Given the description of an element on the screen output the (x, y) to click on. 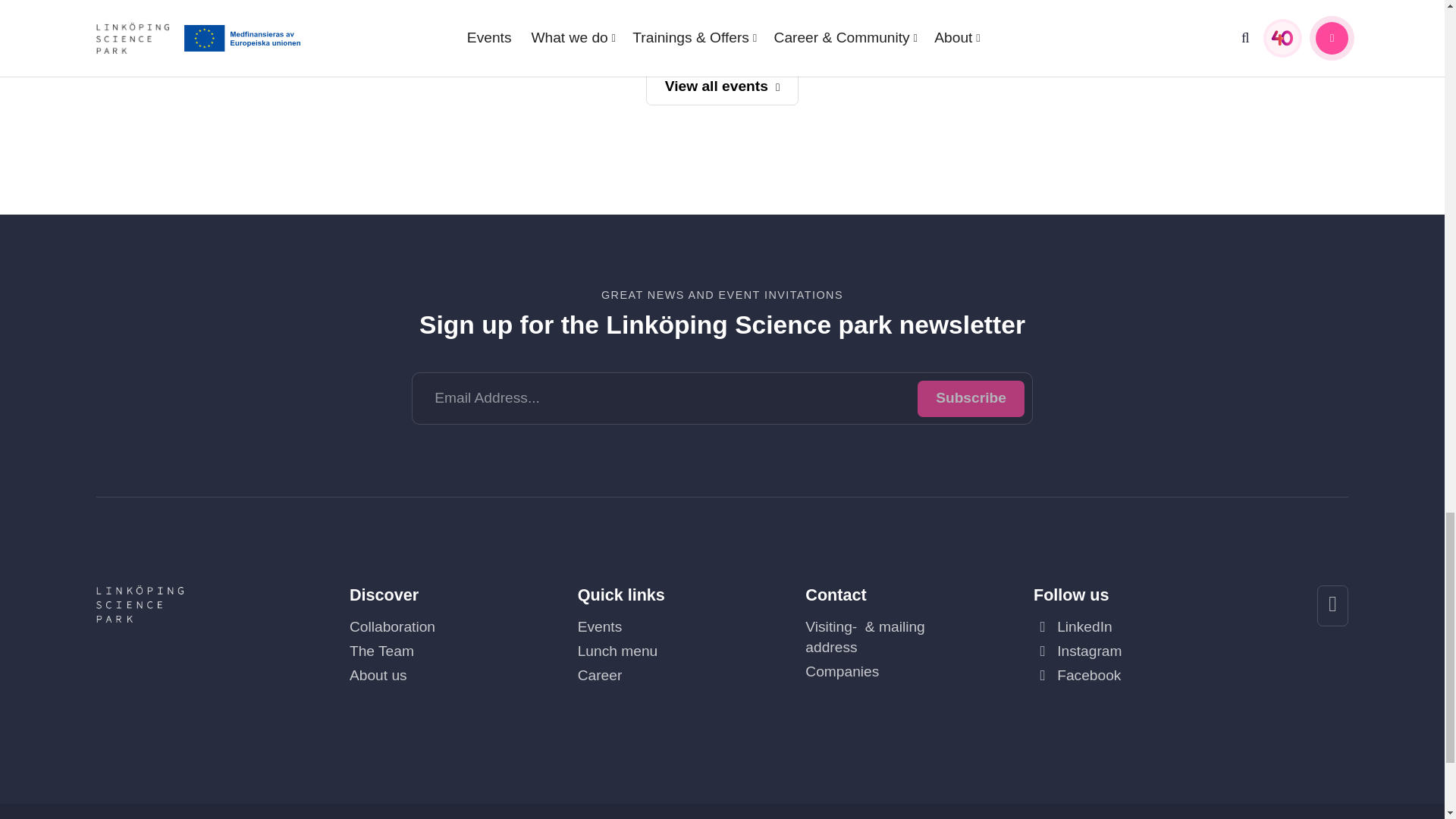
Subscribe (971, 398)
